Given the description of an element on the screen output the (x, y) to click on. 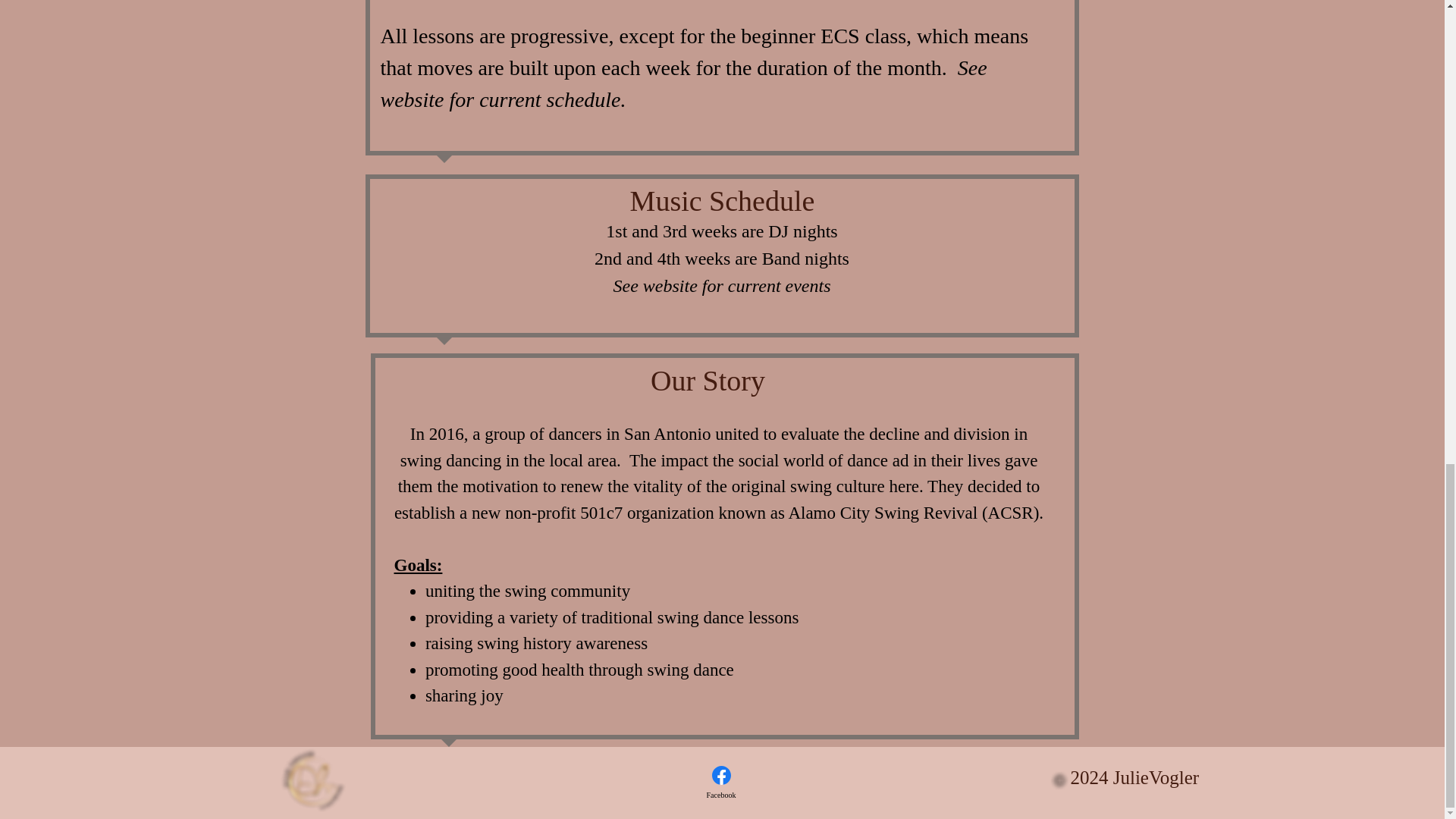
Facebook (721, 782)
